Given the description of an element on the screen output the (x, y) to click on. 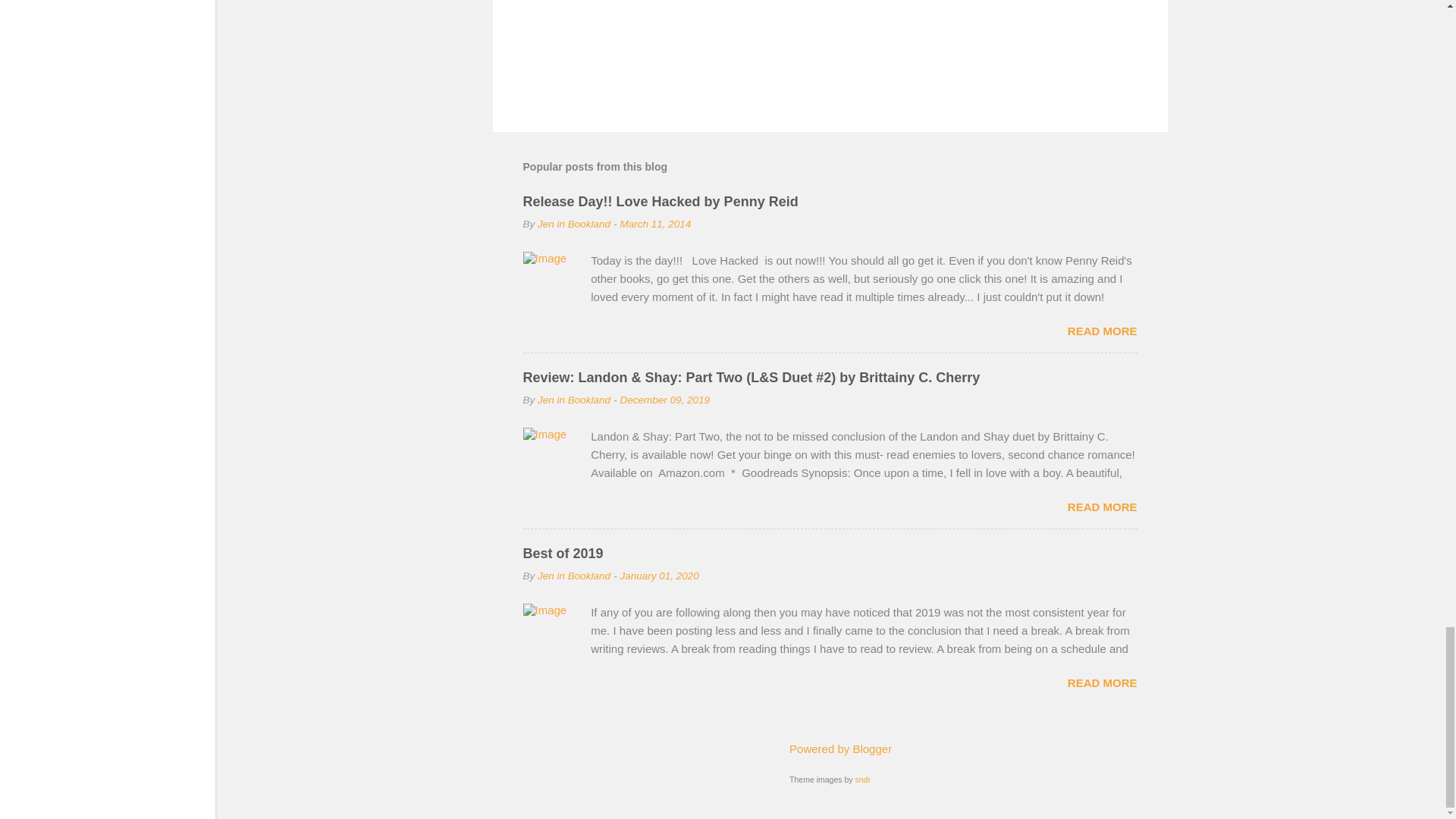
Jen in Bookland (573, 399)
January 01, 2020 (659, 575)
READ MORE (1102, 506)
Best of 2019 (563, 553)
Release Day!! Love Hacked by Penny Reid (659, 201)
March 11, 2014 (655, 224)
Jen in Bookland (573, 224)
sndr (861, 778)
Advertisement (829, 48)
Jen in Bookland (573, 575)
December 09, 2019 (665, 399)
READ MORE (1102, 682)
Powered by Blogger (829, 748)
READ MORE (1102, 330)
